Given the description of an element on the screen output the (x, y) to click on. 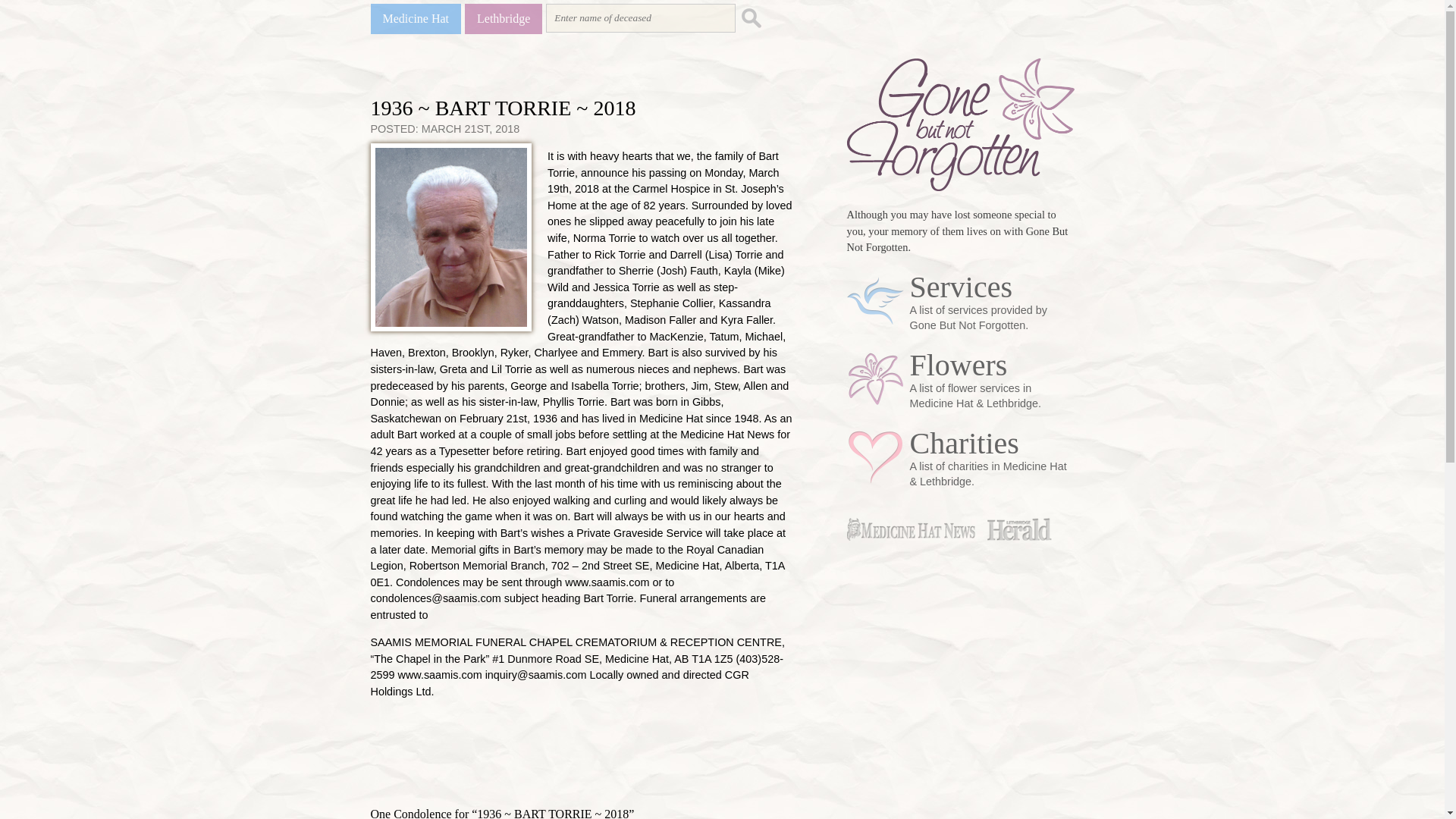
3rd party ad content (959, 595)
Lethbridge (502, 19)
Medicine Hat (415, 19)
3rd party ad content (959, 732)
3rd party ad content (547, 758)
